Given the description of an element on the screen output the (x, y) to click on. 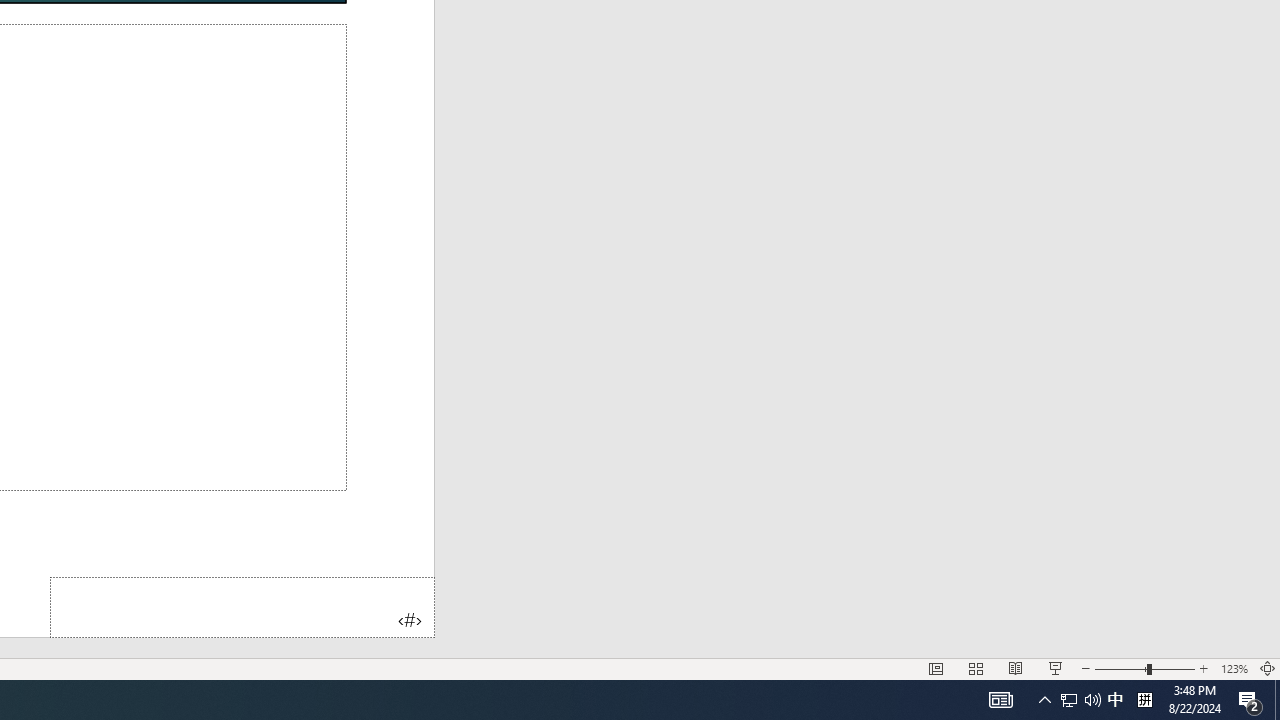
Zoom 123% (1234, 668)
Page Number (242, 606)
